Given the description of an element on the screen output the (x, y) to click on. 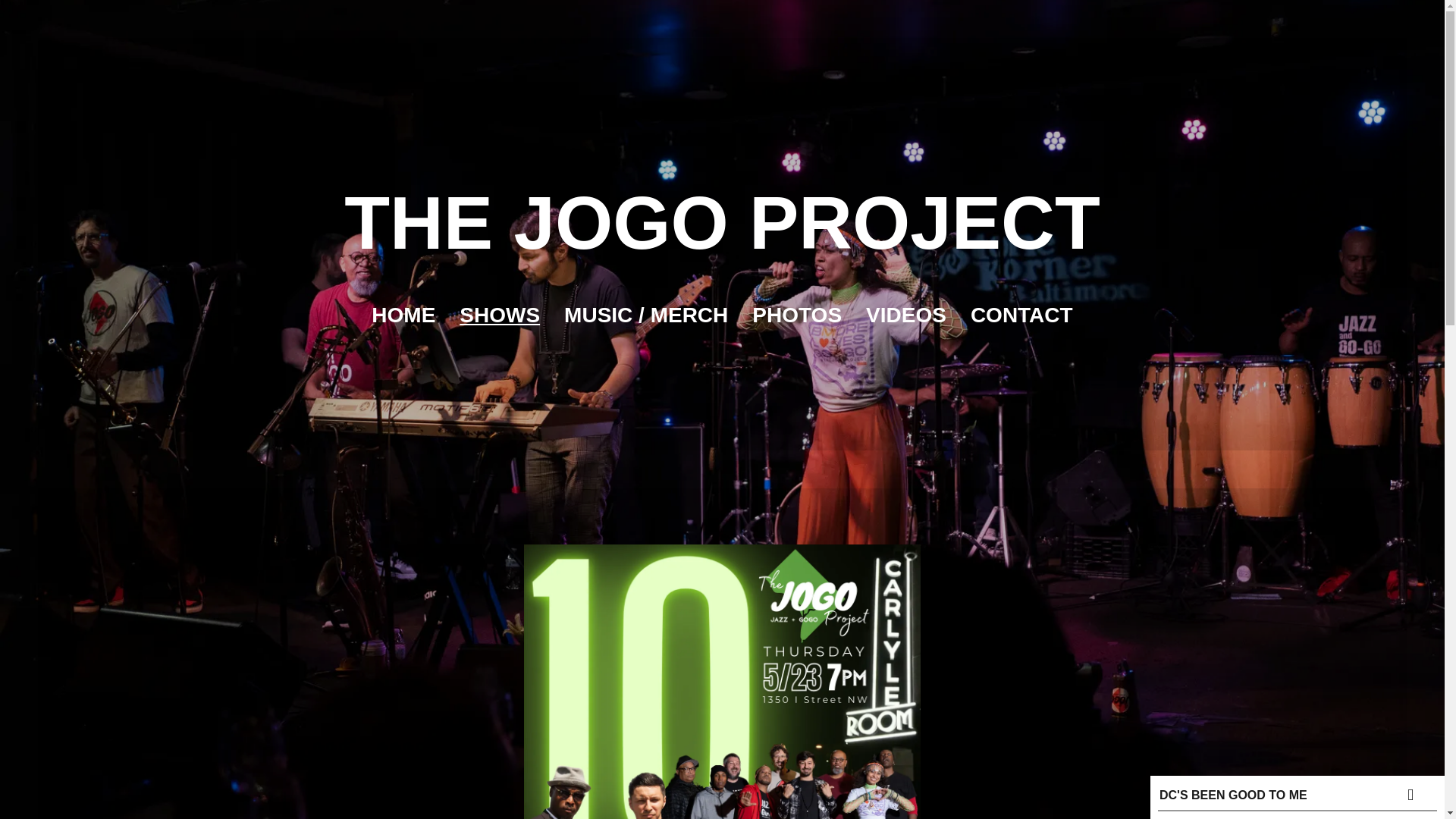
CONTACT (1022, 315)
THE JOGO PROJECT (721, 241)
SHOWS (500, 315)
PHOTOS (796, 315)
HOME (403, 315)
VIDEOS (906, 315)
